Given the description of an element on the screen output the (x, y) to click on. 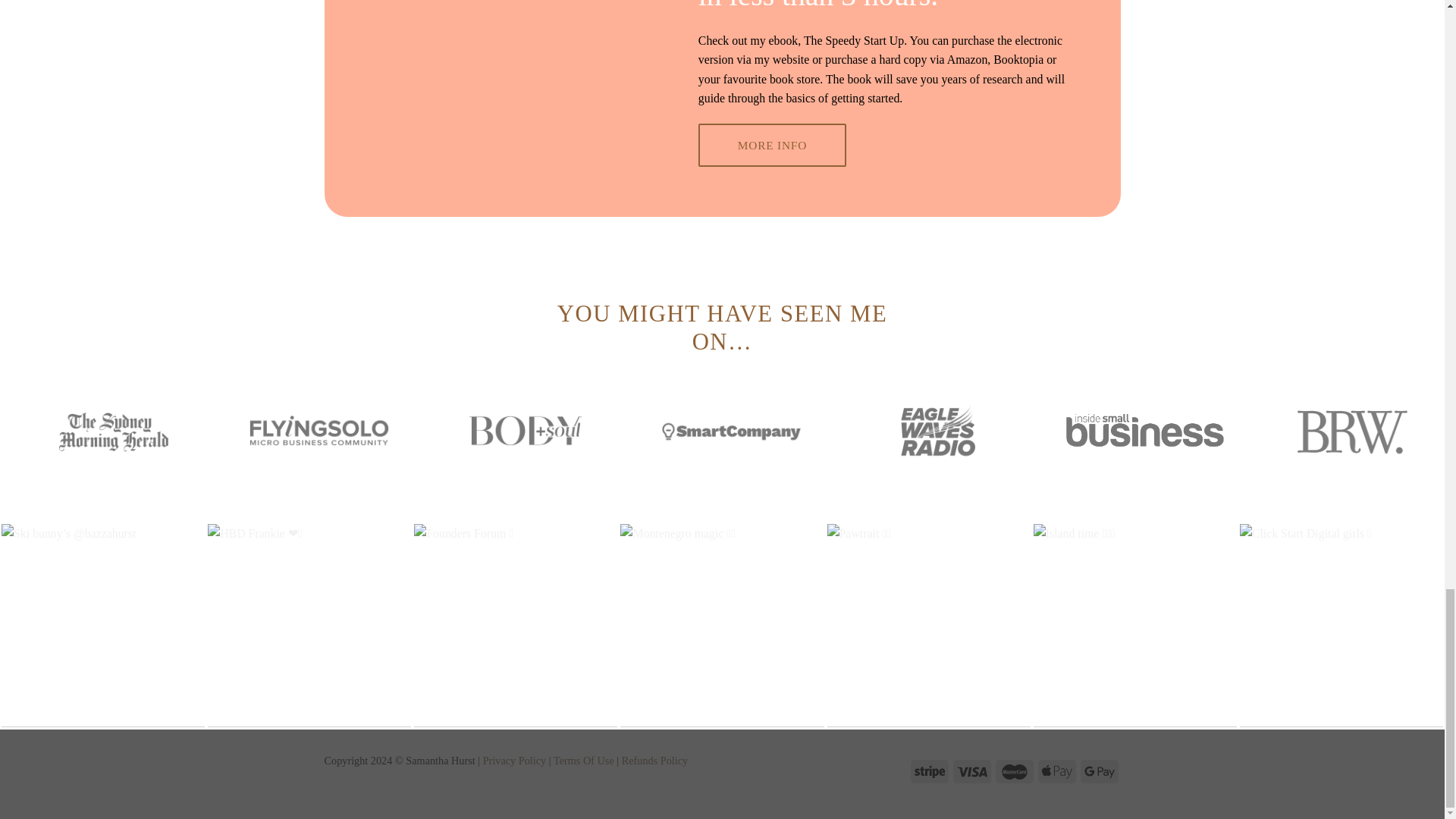
Refunds Policy (654, 760)
Terms Of Use (583, 760)
Privacy Policy (515, 760)
MORE INFO (771, 145)
